Given the description of an element on the screen output the (x, y) to click on. 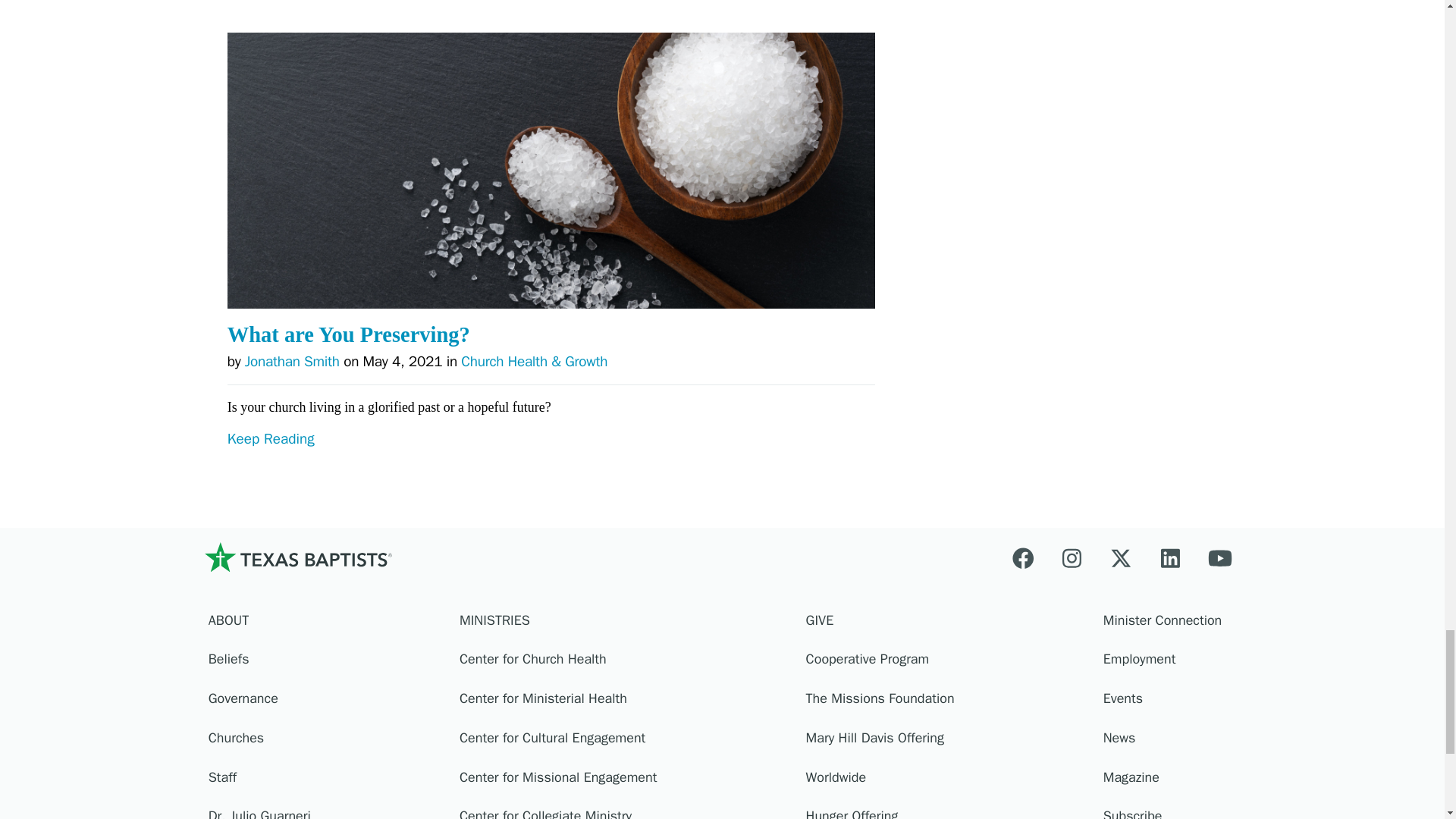
Jonathan Smith (291, 361)
Keep Reading (551, 468)
Home (297, 556)
Keep Reading (551, 16)
